Given the description of an element on the screen output the (x, y) to click on. 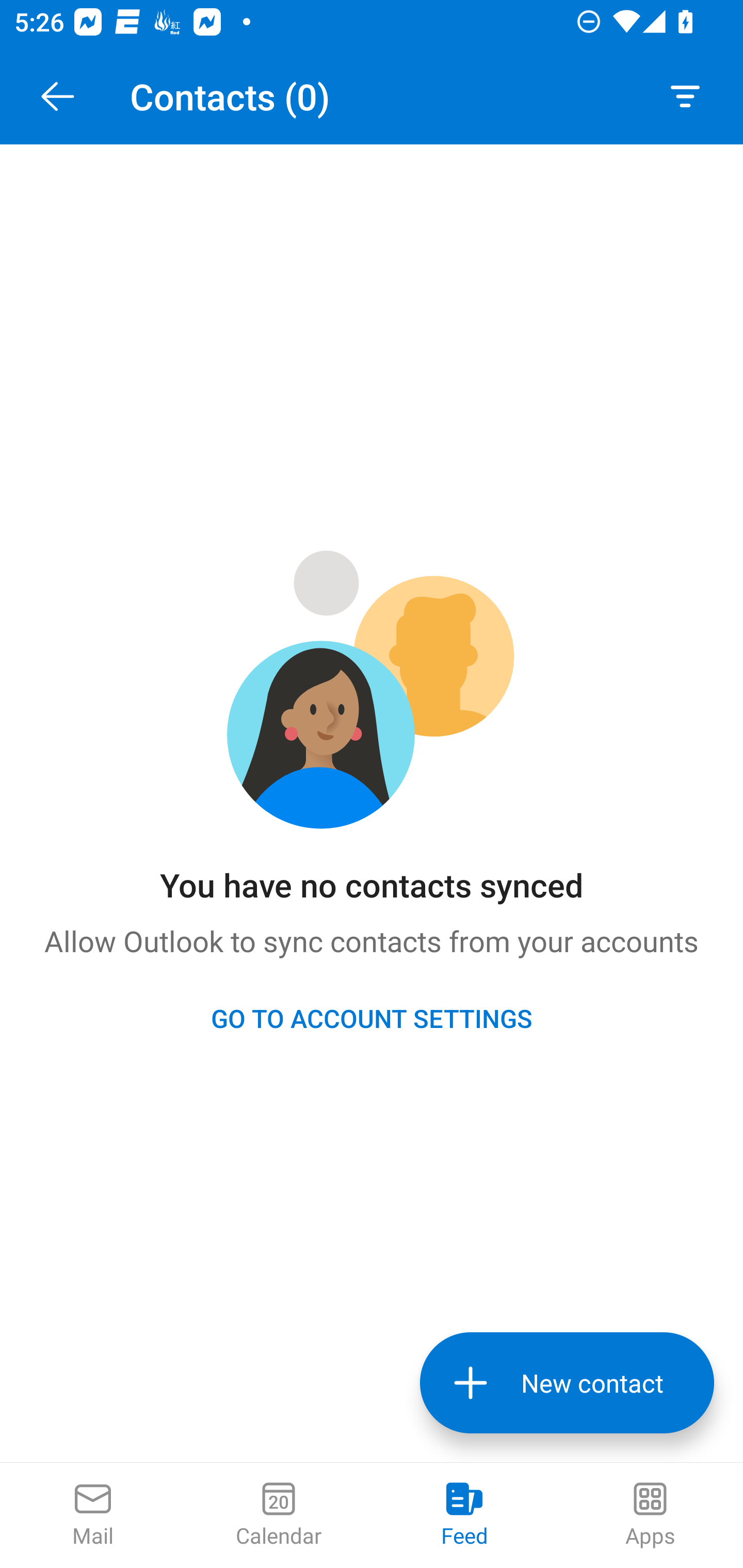
Back (57, 96)
Filter (684, 96)
GO TO ACCOUNT SETTINGS (371, 1018)
New contact (566, 1382)
Mail (92, 1515)
Calendar (278, 1515)
Apps (650, 1515)
